Given the description of an element on the screen output the (x, y) to click on. 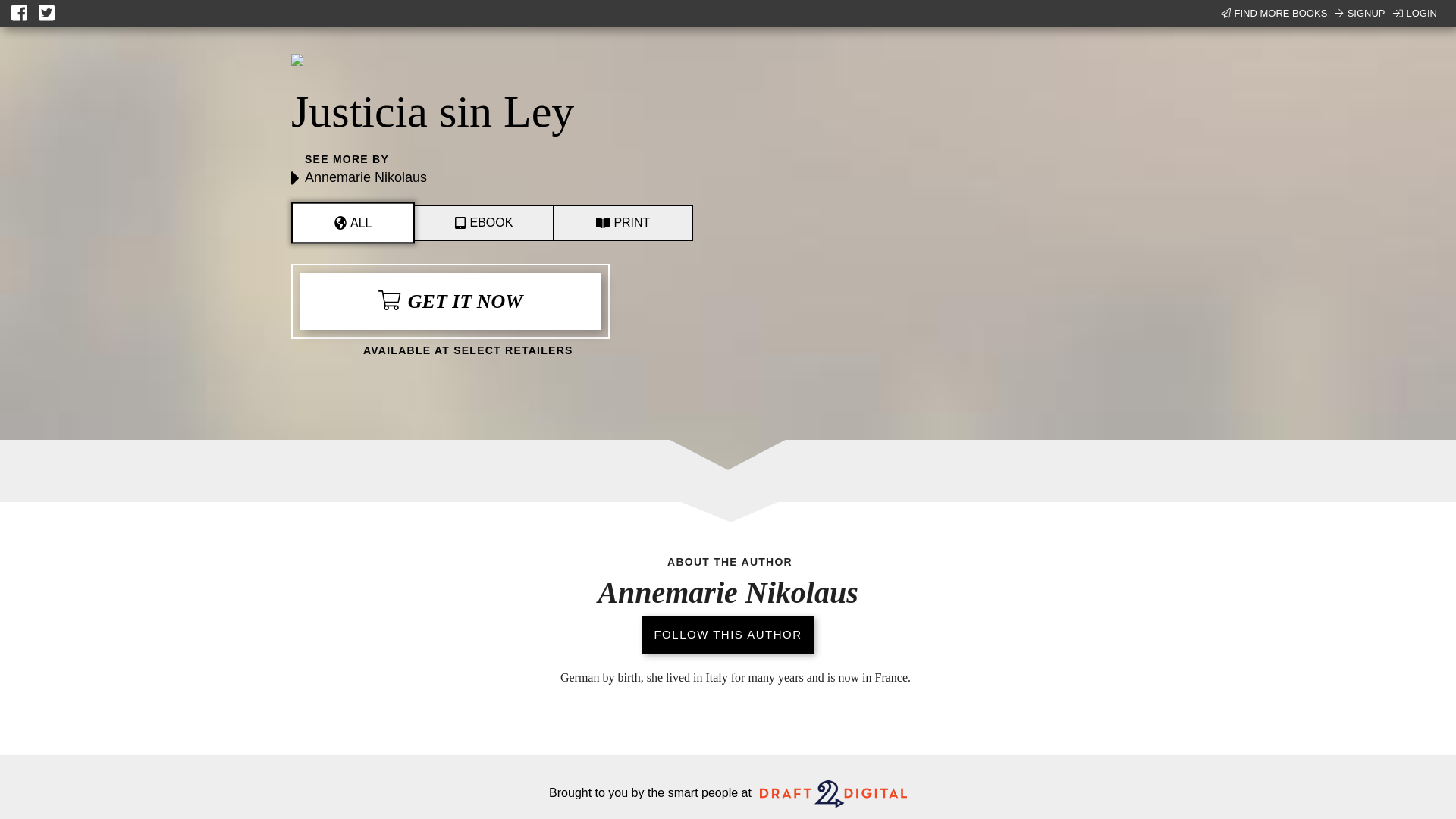
FIND MORE BOOKS (1274, 13)
SIGNUP (1359, 13)
Annemarie Nikolaus (365, 177)
GET IT NOW (449, 301)
FOLLOW THIS AUTHOR (727, 637)
LOGIN (1415, 13)
FOLLOW THIS AUTHOR (727, 634)
